Given the description of an element on the screen output the (x, y) to click on. 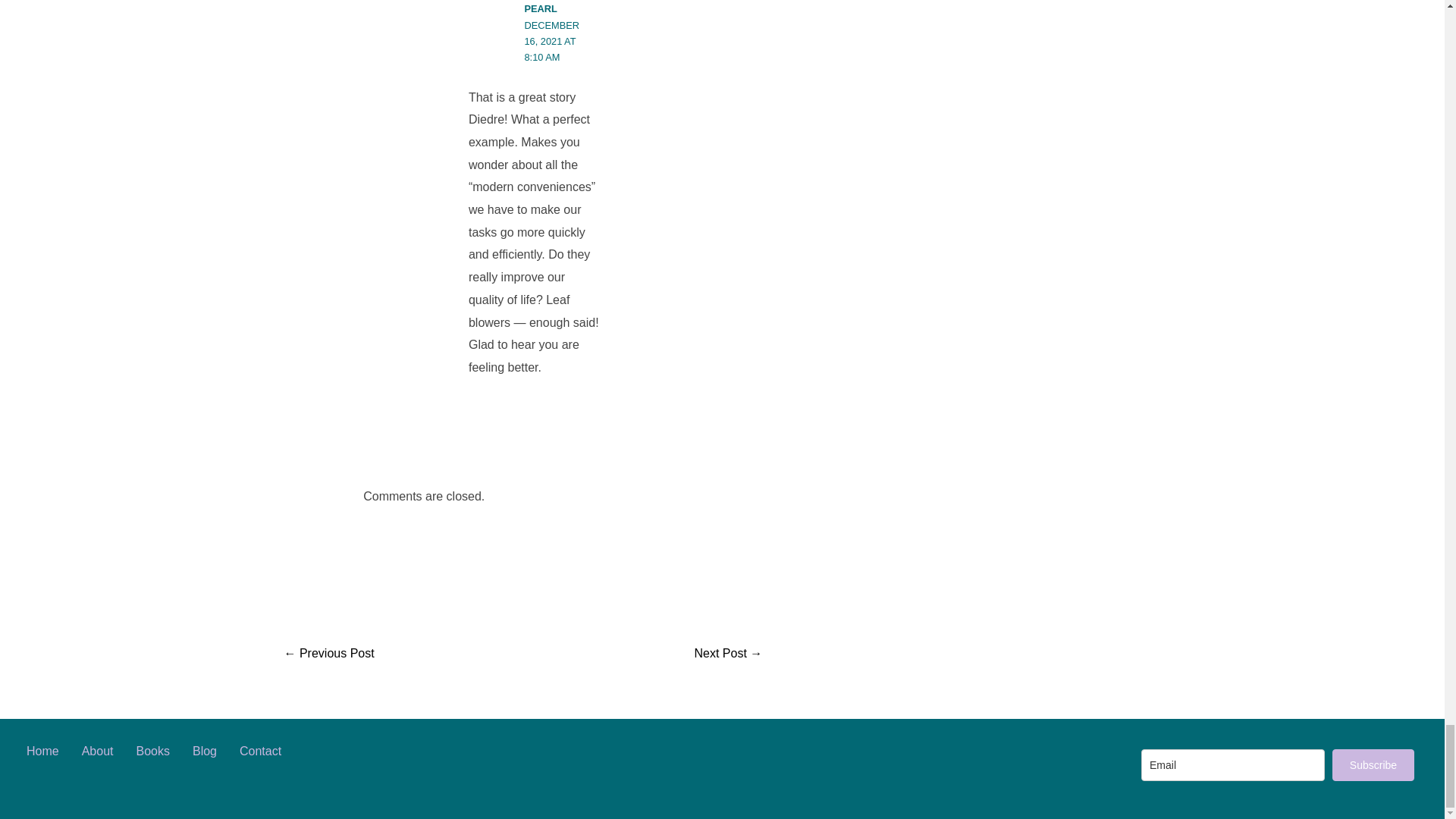
Morning Magic (728, 654)
GALEN PEARL (540, 7)
The Trap of Belief (328, 654)
DECEMBER 16, 2021 AT 8:10 AM (551, 41)
